Given the description of an element on the screen output the (x, y) to click on. 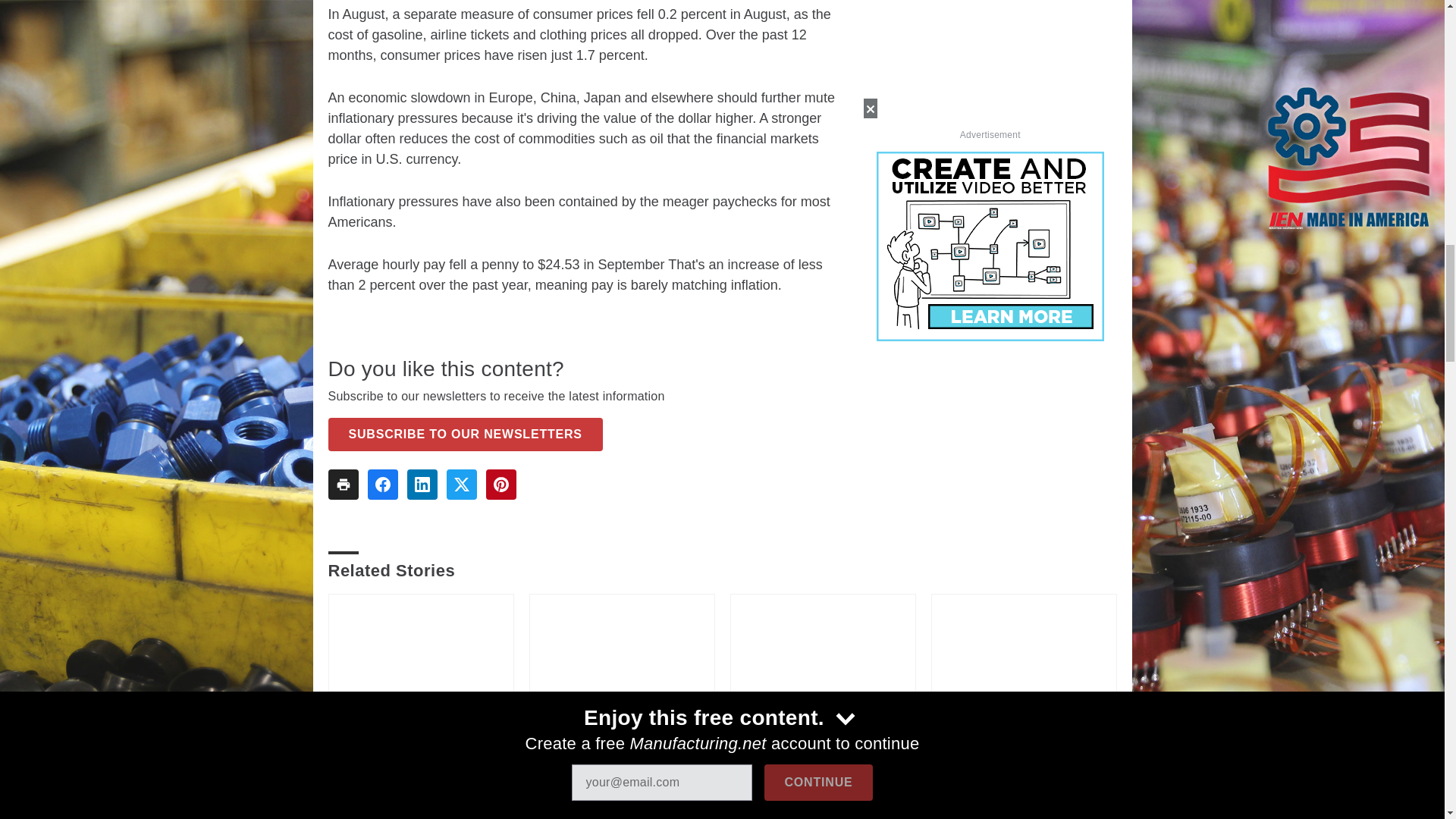
Share To twitter (460, 484)
Share To linkedin (421, 484)
Share To print (342, 484)
Share To pinterest (499, 484)
Share To facebook (381, 484)
